Given the description of an element on the screen output the (x, y) to click on. 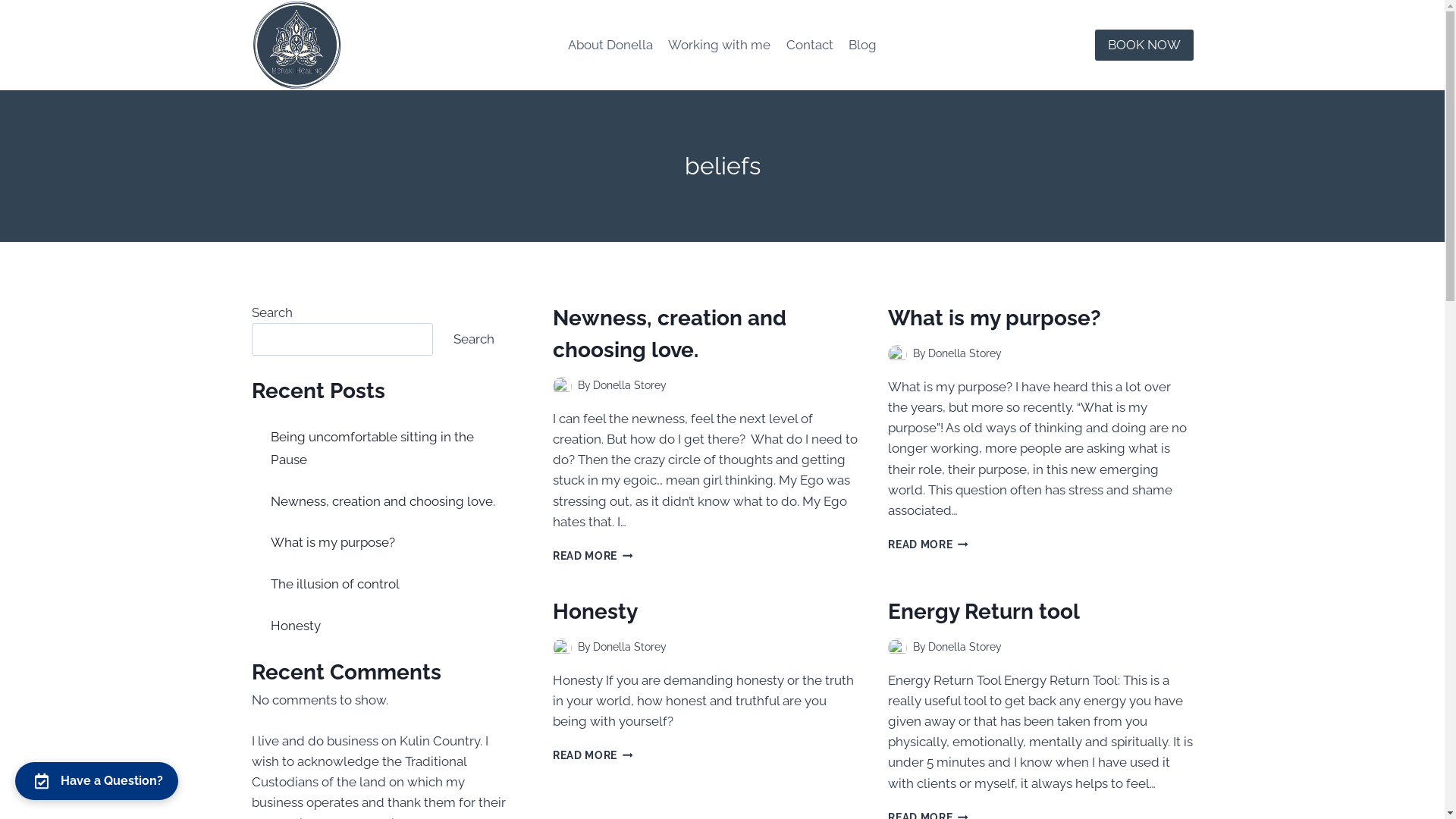
Blog Element type: text (862, 45)
Honesty Element type: text (594, 611)
READ MORE
HONESTY Element type: text (592, 755)
The illusion of control Element type: text (334, 583)
Donella Storey Element type: text (964, 353)
Search Element type: text (473, 339)
Working with me Element type: text (719, 45)
What is my purpose? Element type: text (332, 541)
Donella Storey Element type: text (629, 385)
About Donella Element type: text (610, 45)
Energy Return tool Element type: text (983, 611)
Have a Question? Element type: text (96, 781)
What is my purpose? Element type: text (994, 317)
Contact Element type: text (809, 45)
Newness, creation and choosing love. Element type: text (669, 333)
Donella Storey Element type: text (629, 646)
BOOK NOW Element type: text (1144, 44)
READ MORE
NEWNESS, CREATION AND CHOOSING LOVE. Element type: text (592, 555)
Honesty Element type: text (295, 625)
Newness, creation and choosing love. Element type: text (382, 500)
Donella Storey Element type: text (964, 646)
Being uncomfortable sitting in the Pause Element type: text (371, 448)
READ MORE
WHAT IS MY PURPOSE? Element type: text (928, 544)
